Given the description of an element on the screen output the (x, y) to click on. 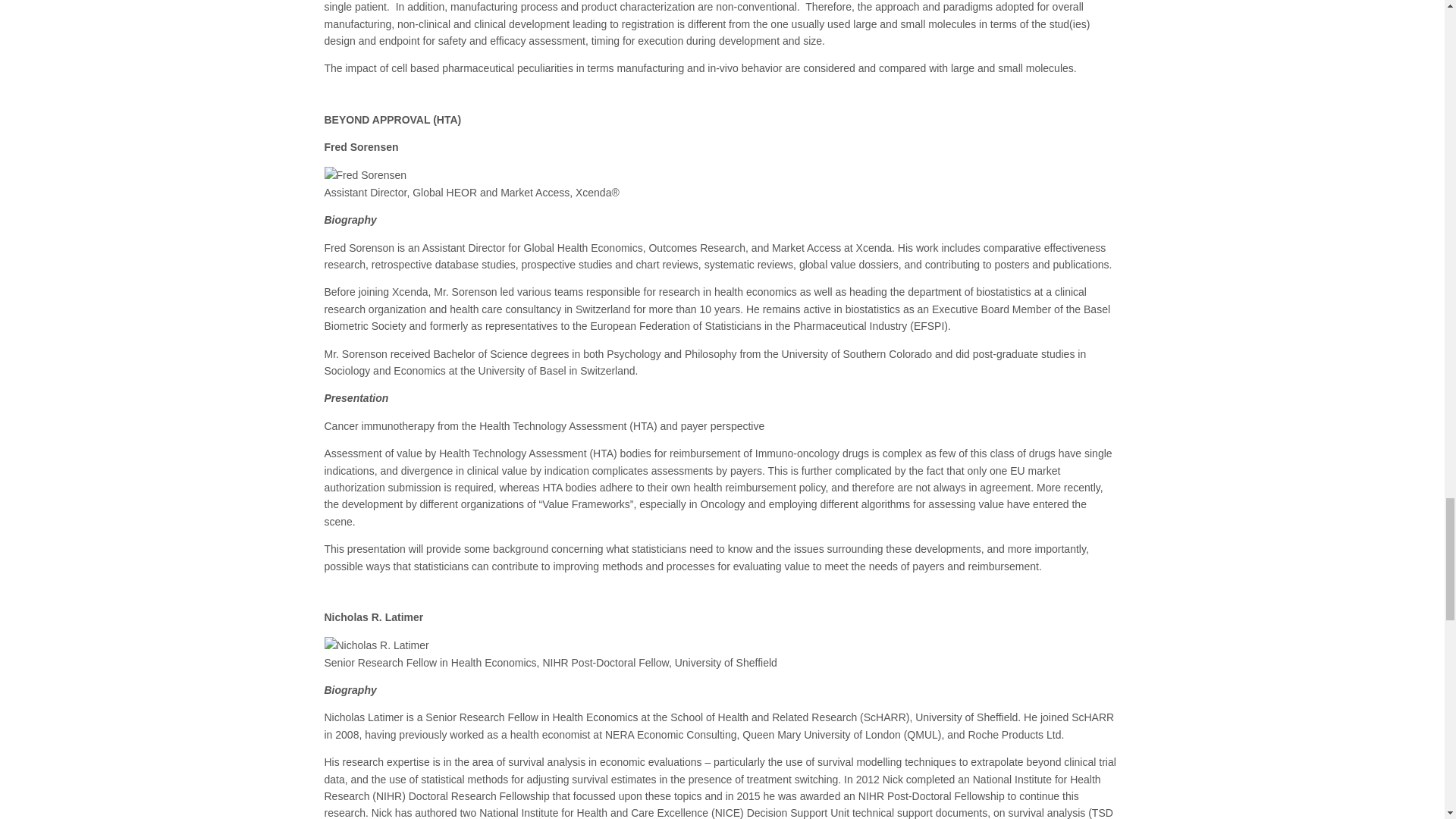
Fred Sorensen (365, 175)
Nicholas R. Latimer (376, 645)
